Given the description of an element on the screen output the (x, y) to click on. 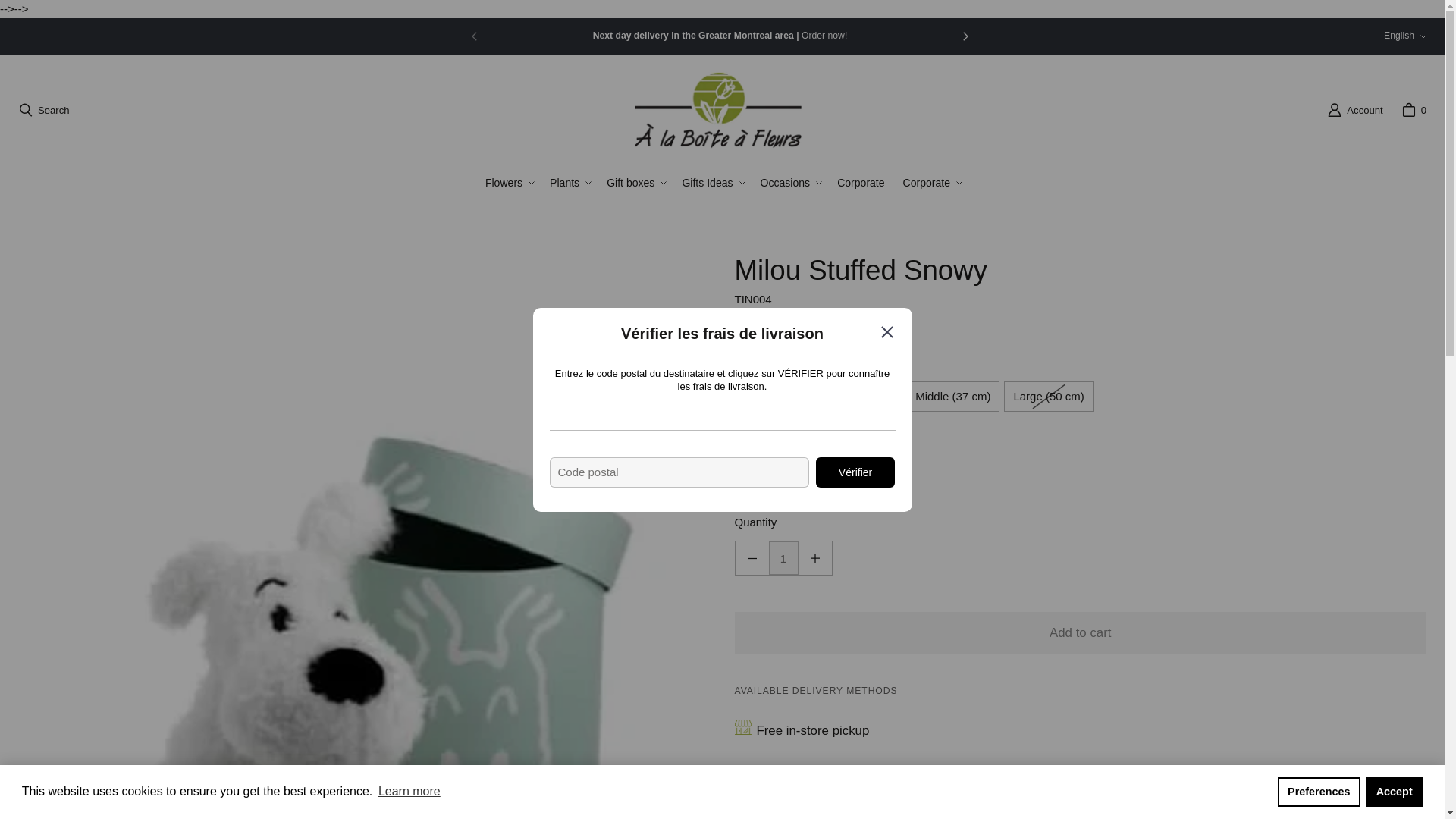
English (1404, 36)
Accept (1393, 791)
Learn more (408, 791)
Preferences (1318, 791)
